Given the description of an element on the screen output the (x, y) to click on. 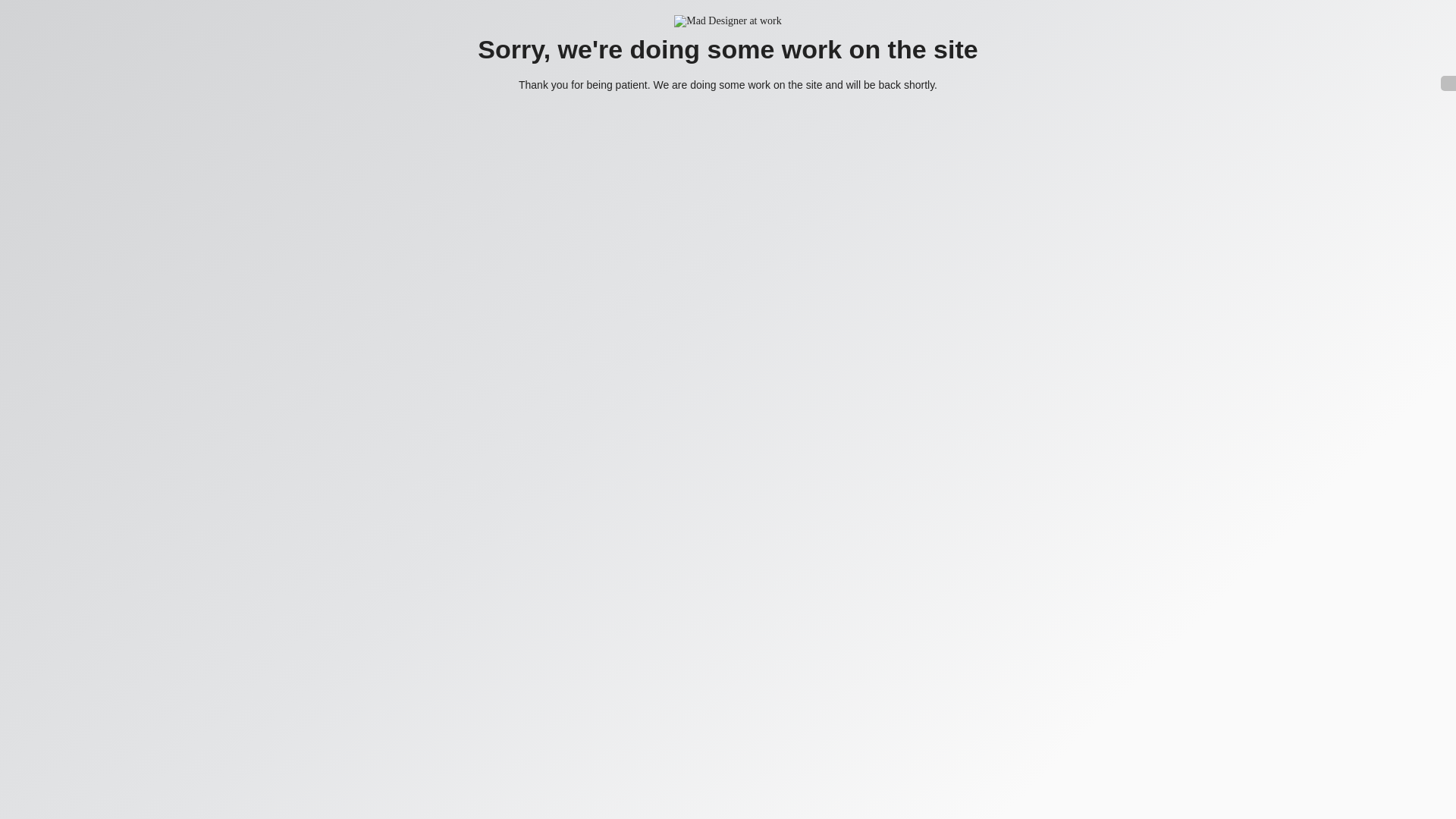
Mad Designer at work (727, 21)
